Given the description of an element on the screen output the (x, y) to click on. 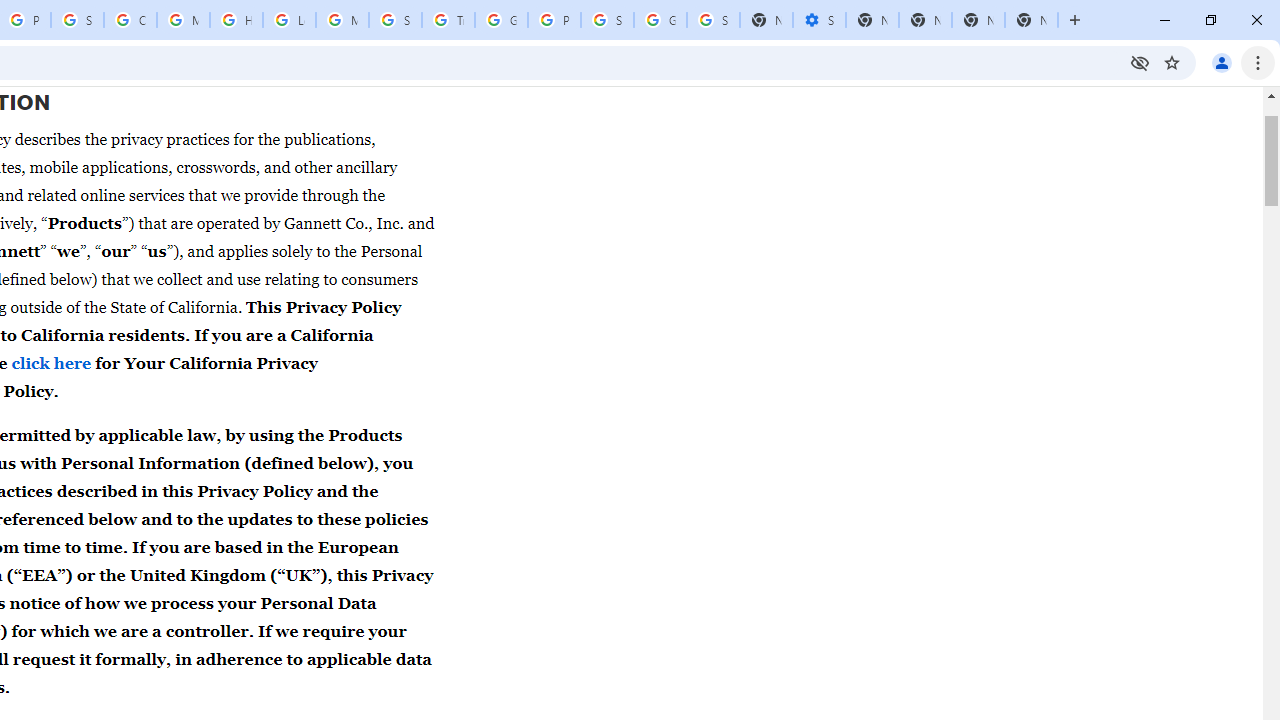
Bookmark this tab (1171, 62)
You (1221, 62)
Settings - Performance (819, 20)
Sign in - Google Accounts (607, 20)
New Tab (1075, 20)
Google Ads - Sign in (501, 20)
Restore (1210, 20)
New Tab (1031, 20)
Search our Doodle Library Collection - Google Doodles (395, 20)
Sign in - Google Accounts (713, 20)
Google Cybersecurity Innovations - Google Safety Center (660, 20)
